Given the description of an element on the screen output the (x, y) to click on. 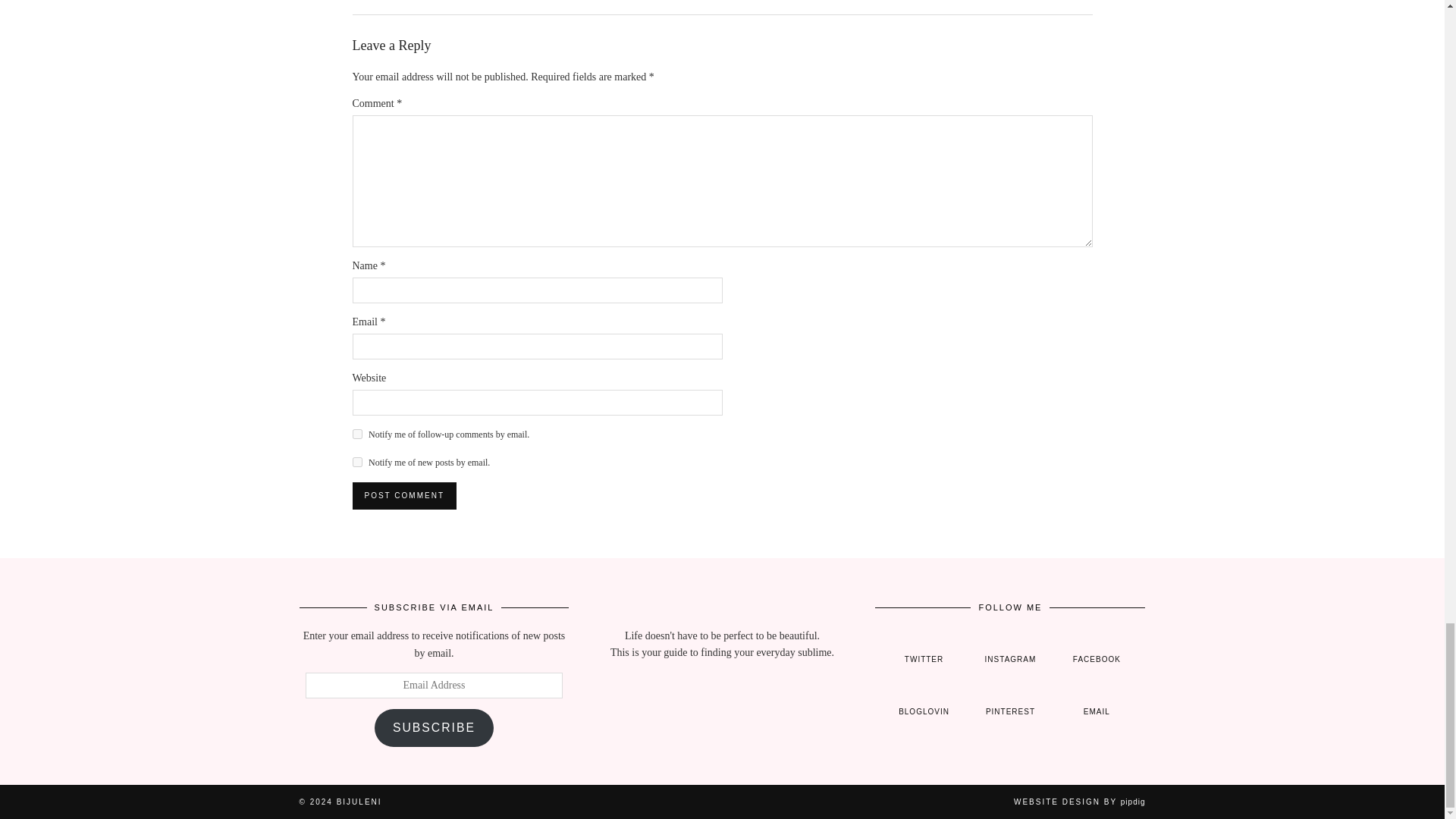
subscribe (356, 461)
Post Comment (403, 495)
subscribe (356, 433)
